Given the description of an element on the screen output the (x, y) to click on. 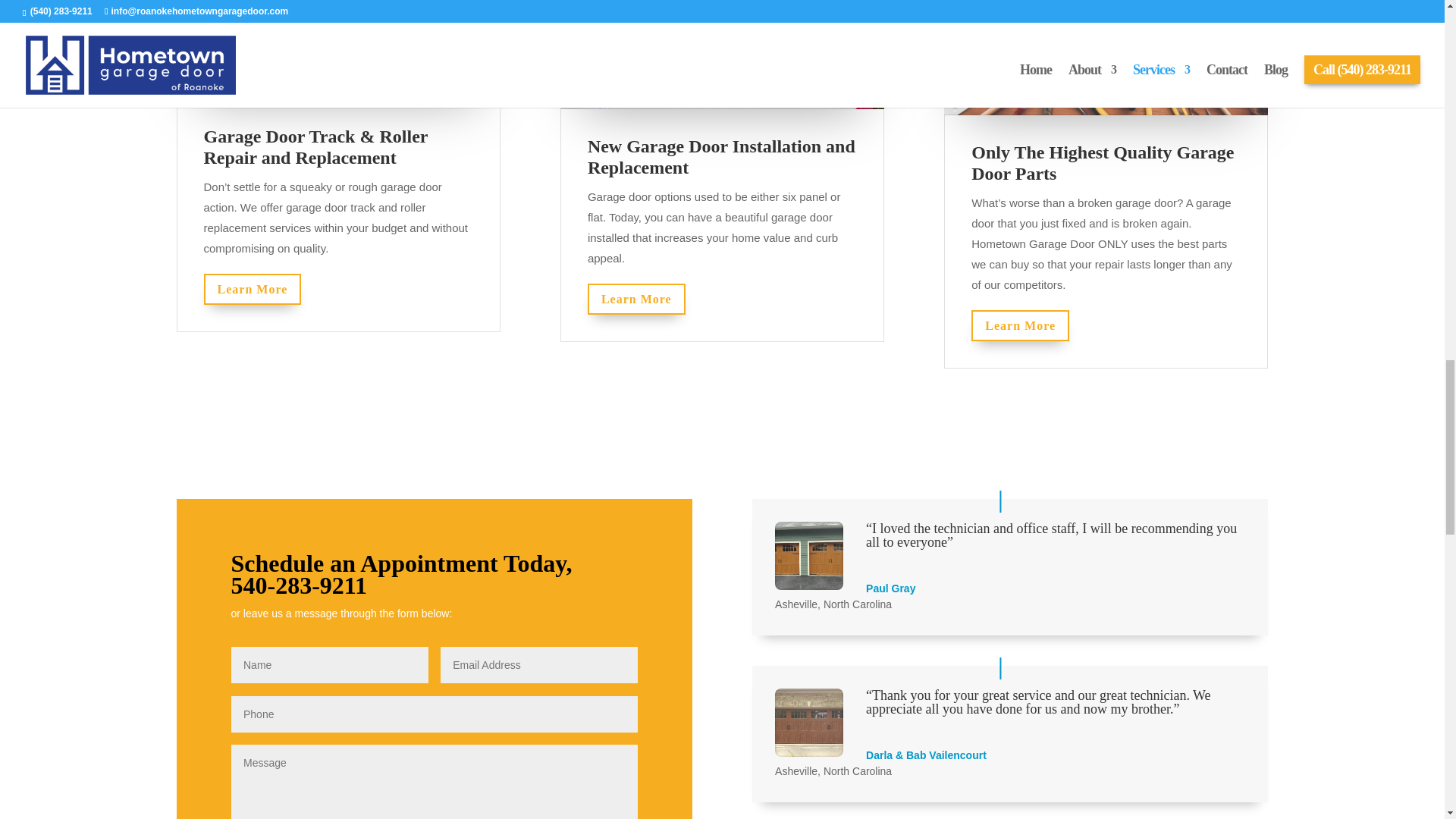
Learn More (252, 288)
Learn More (1019, 325)
Learn More (636, 298)
Only numbers allowed.Maximum length: 10 characters. (401, 573)
